Given the description of an element on the screen output the (x, y) to click on. 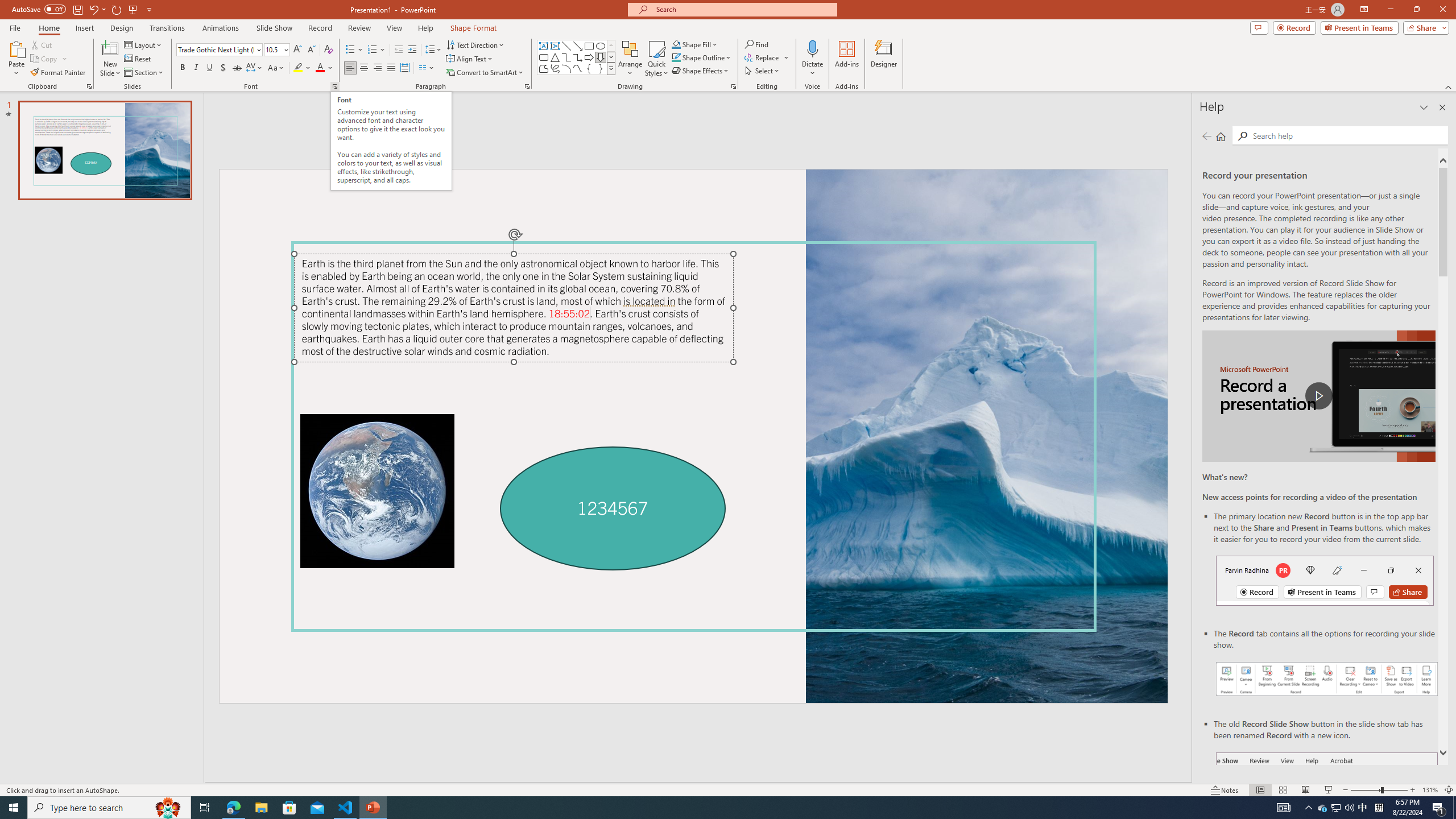
Bullets (354, 49)
Section (144, 72)
Freeform: Shape (543, 68)
Paste (16, 48)
Clear Formatting (327, 49)
Format Object... (733, 85)
